Given the description of an element on the screen output the (x, y) to click on. 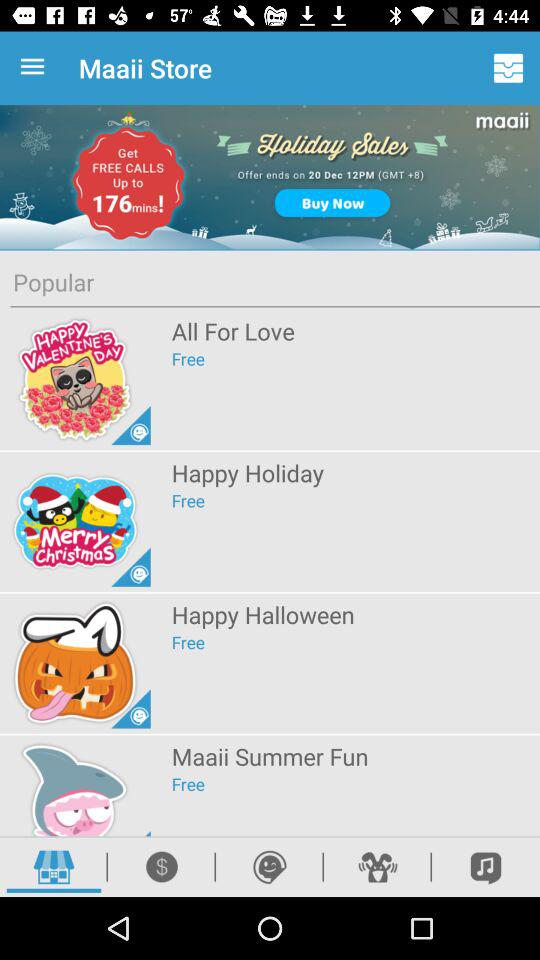
select app to the right of maaii store app (508, 67)
